Given the description of an element on the screen output the (x, y) to click on. 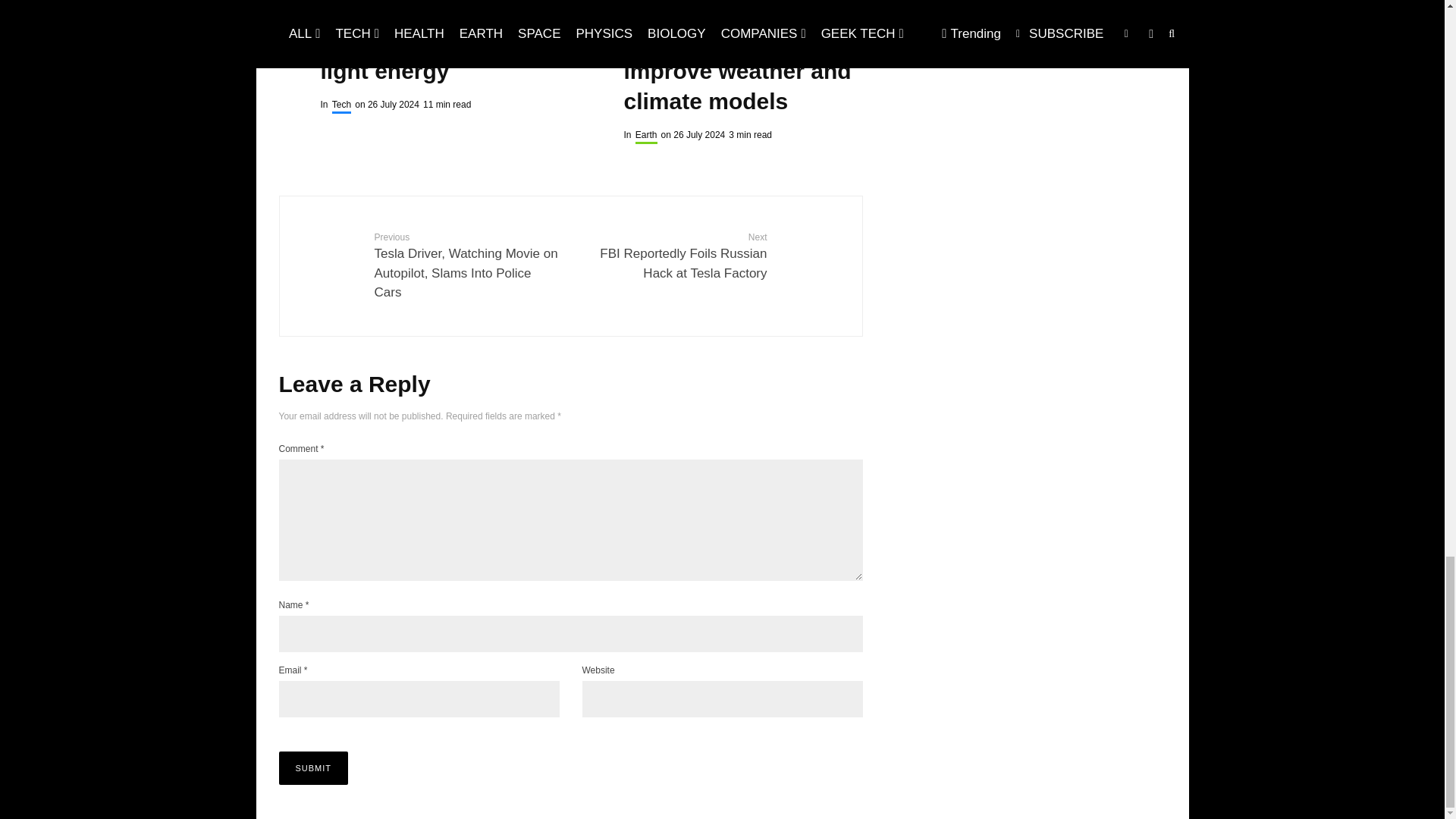
Submit (314, 767)
